Given the description of an element on the screen output the (x, y) to click on. 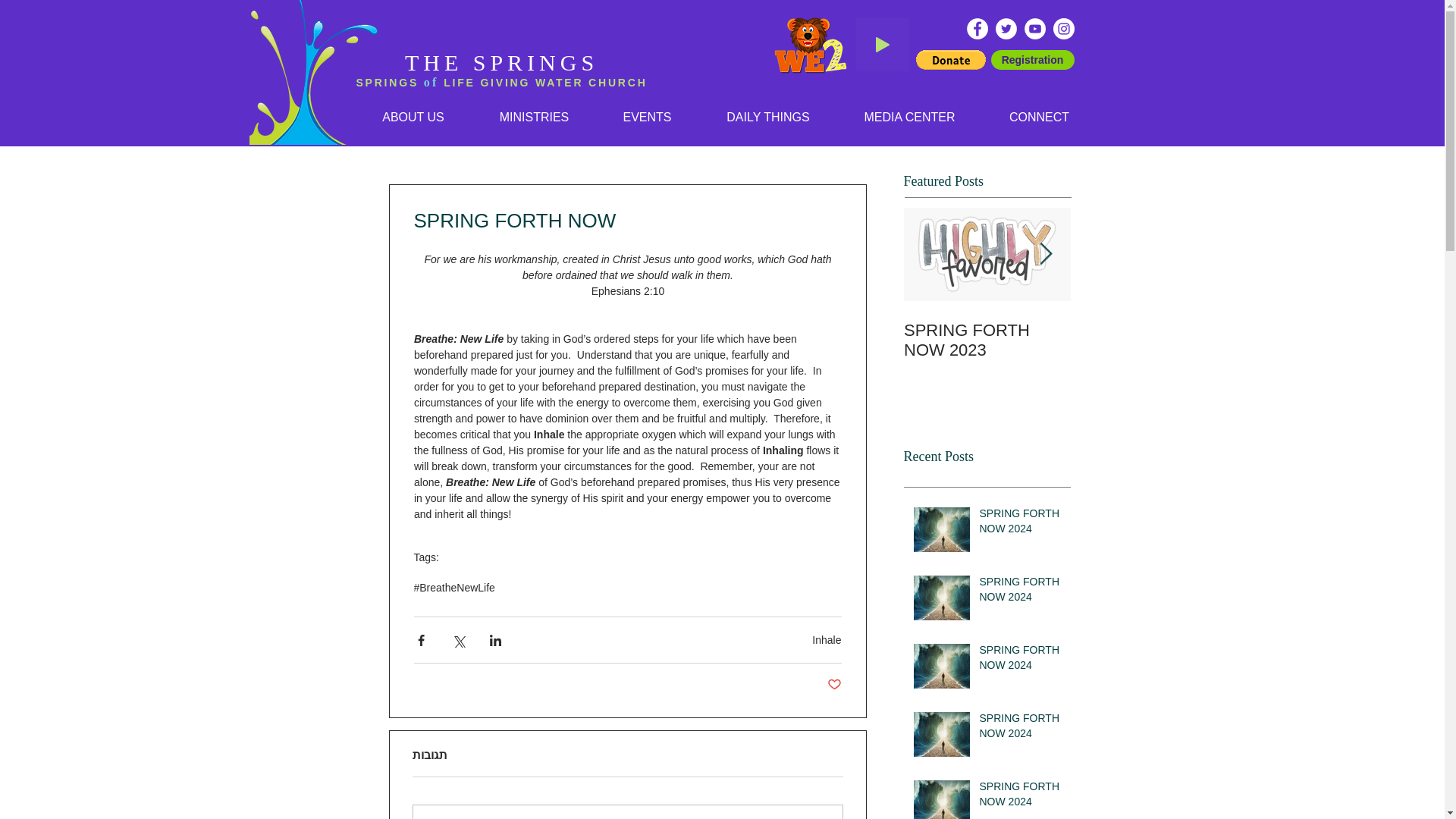
CONNECT (1038, 116)
DAILY THINGS (768, 116)
Inhale (826, 639)
EVENTS (646, 116)
SPRING FORTH NOW 2023 (987, 340)
MEDIA CENTER (909, 116)
Post not marked as liked (834, 684)
ABOUT US (412, 116)
THE SPRINGS (501, 62)
Registration (1032, 59)
FROM THE PASTOR'S DESK (1321, 340)
